Given the description of an element on the screen output the (x, y) to click on. 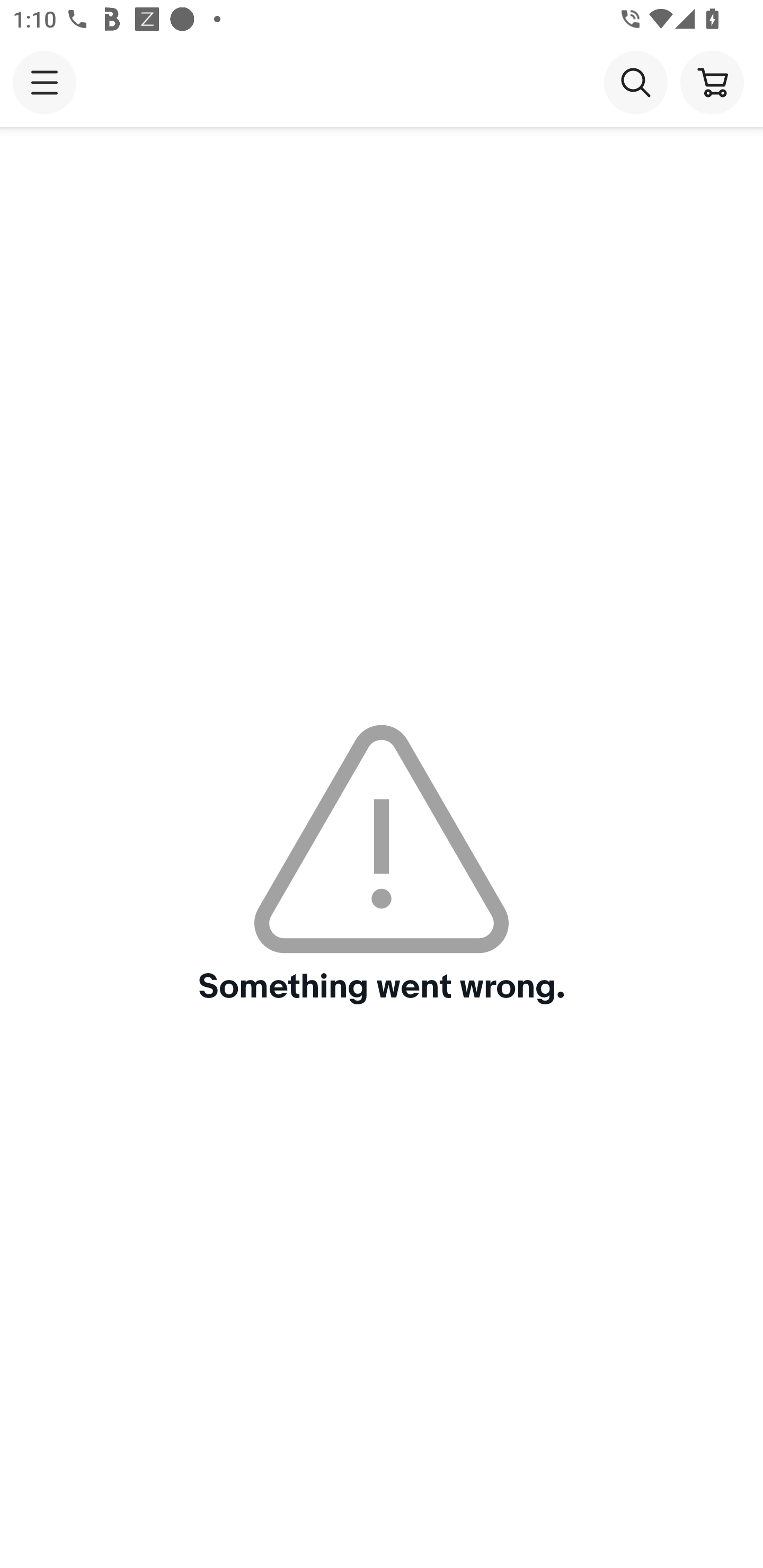
Main navigation, open (44, 82)
Search (635, 81)
Cart button shopping cart (711, 81)
